Given the description of an element on the screen output the (x, y) to click on. 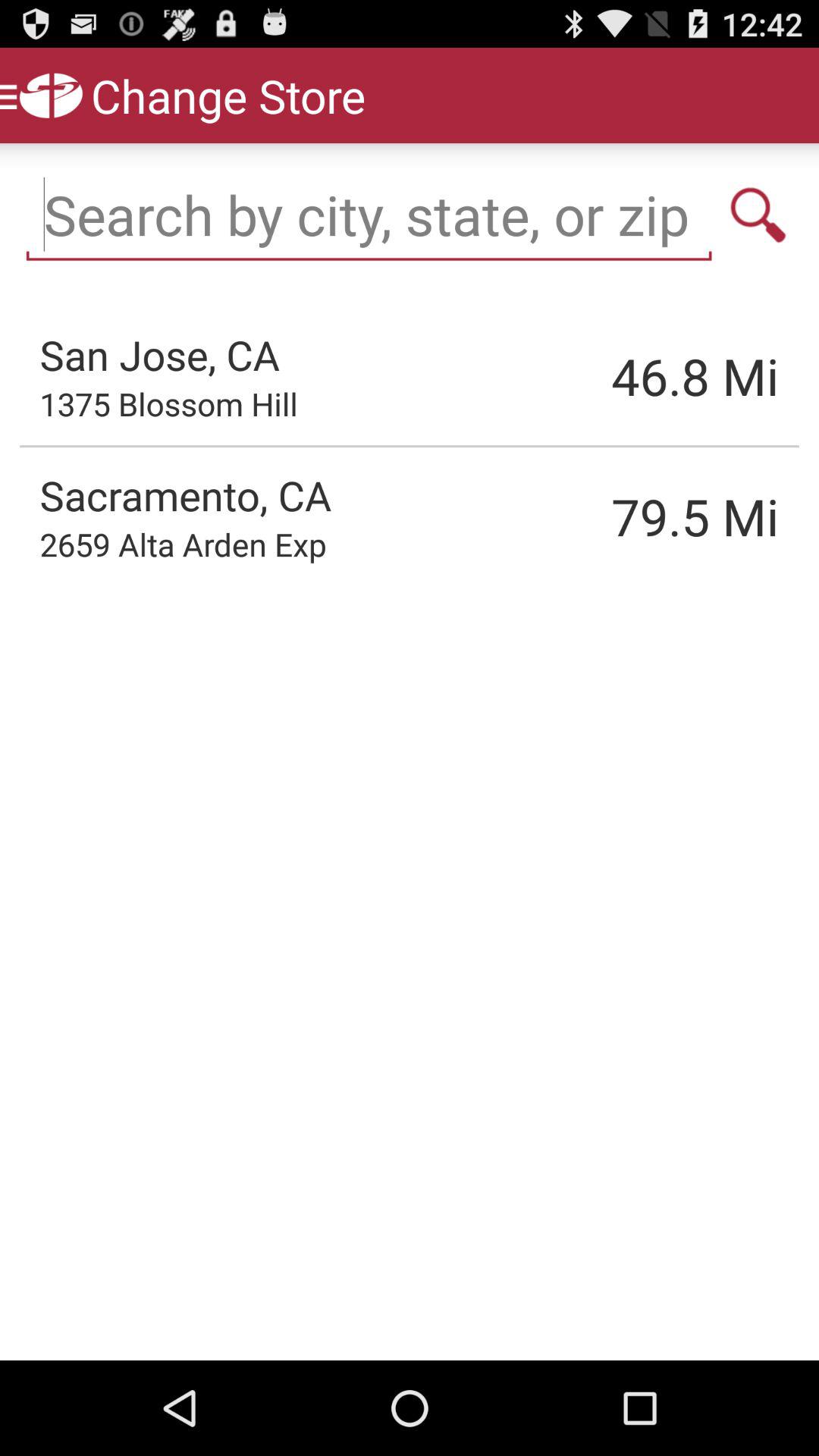
tap item to the right of sacramento, ca item (617, 516)
